Given the description of an element on the screen output the (x, y) to click on. 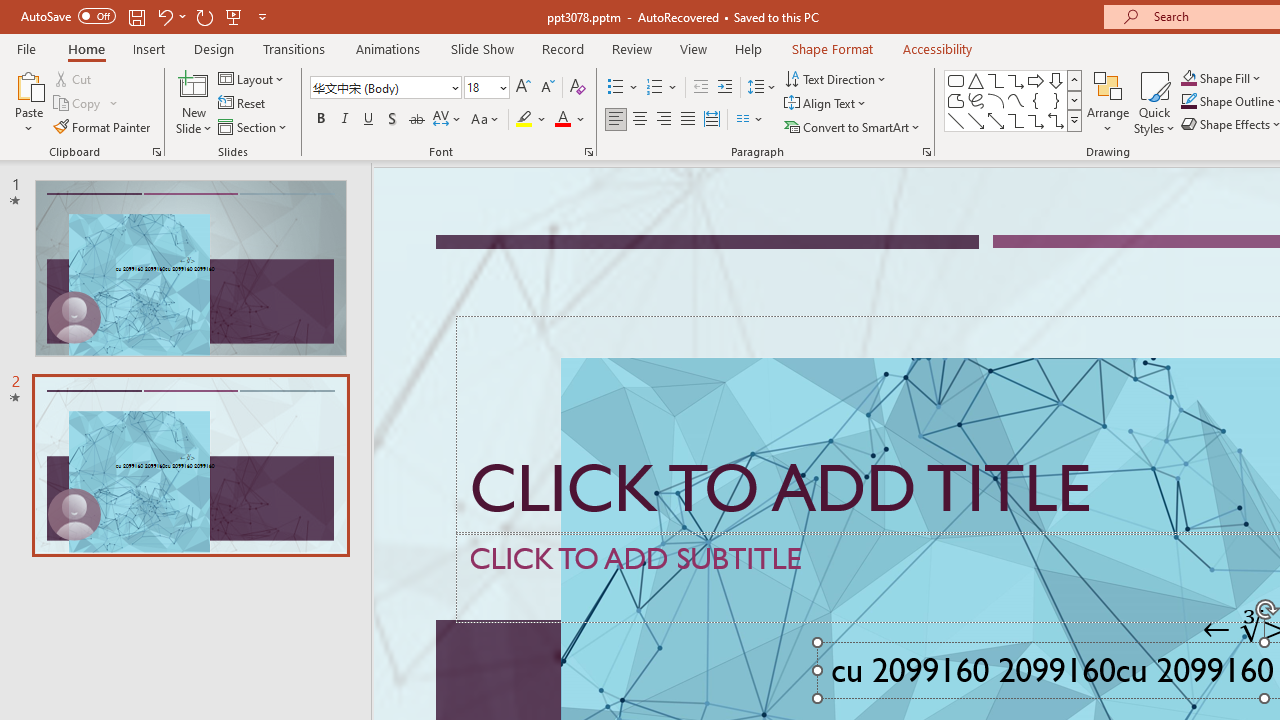
Shape Outline Green, Accent 1 (1188, 101)
Line Arrow: Double (995, 120)
